Given the description of an element on the screen output the (x, y) to click on. 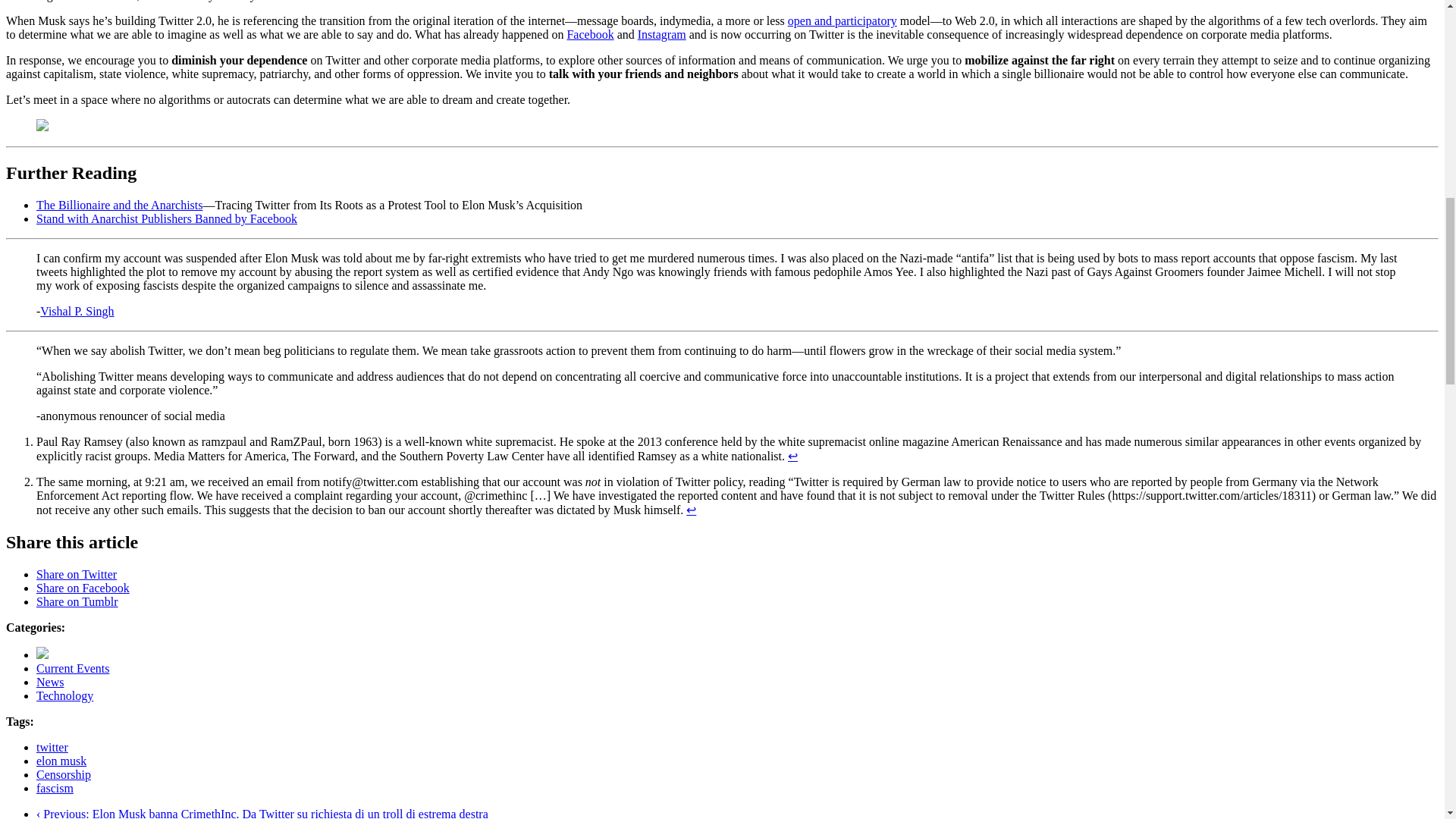
Facebook (589, 33)
open and participatory (841, 20)
Instagram (661, 33)
